Given the description of an element on the screen output the (x, y) to click on. 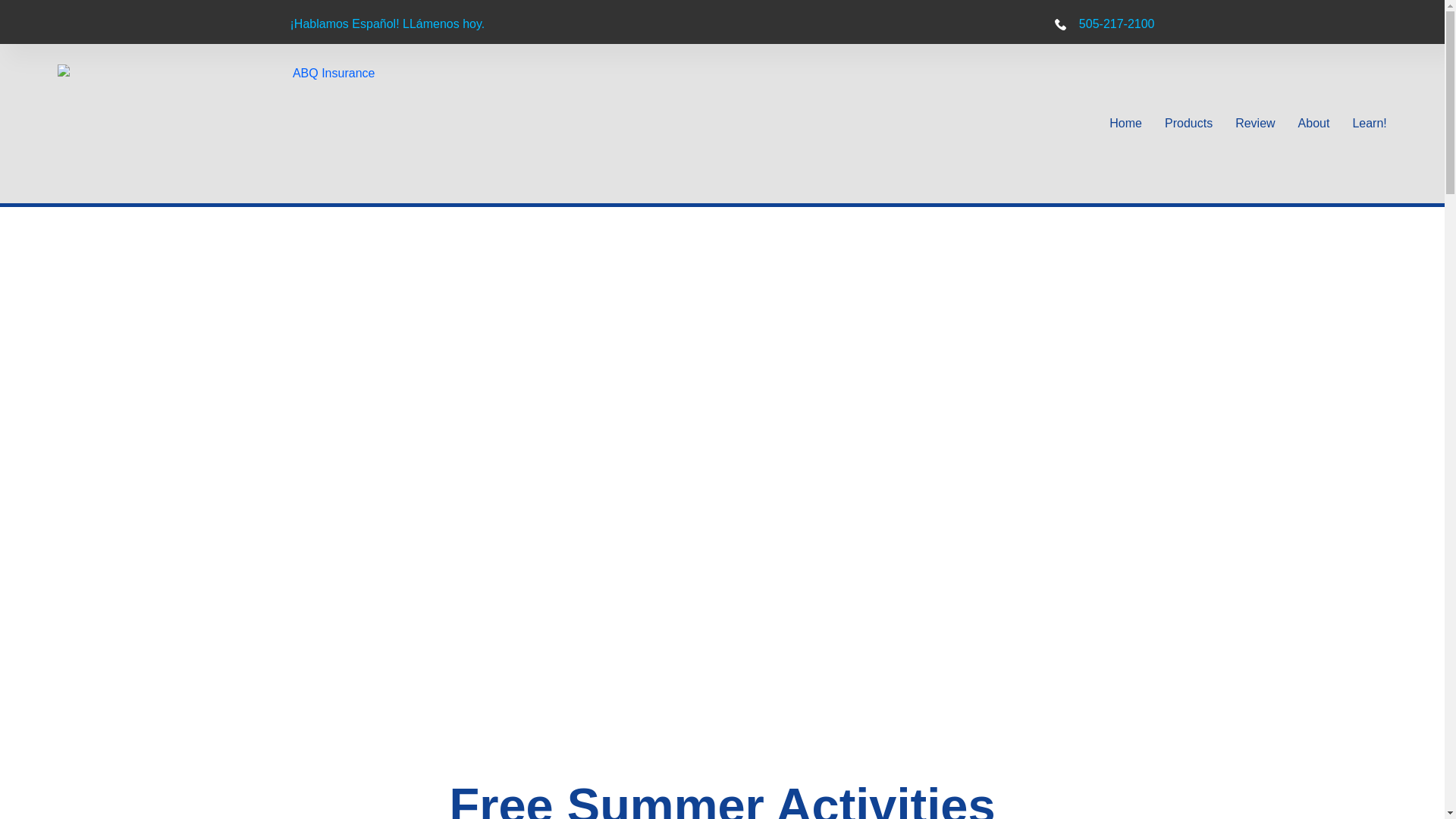
About (1314, 123)
505-217-2100 (938, 24)
Review (1254, 123)
Home (1125, 123)
Learn! (1369, 123)
Products (1188, 123)
